Given the description of an element on the screen output the (x, y) to click on. 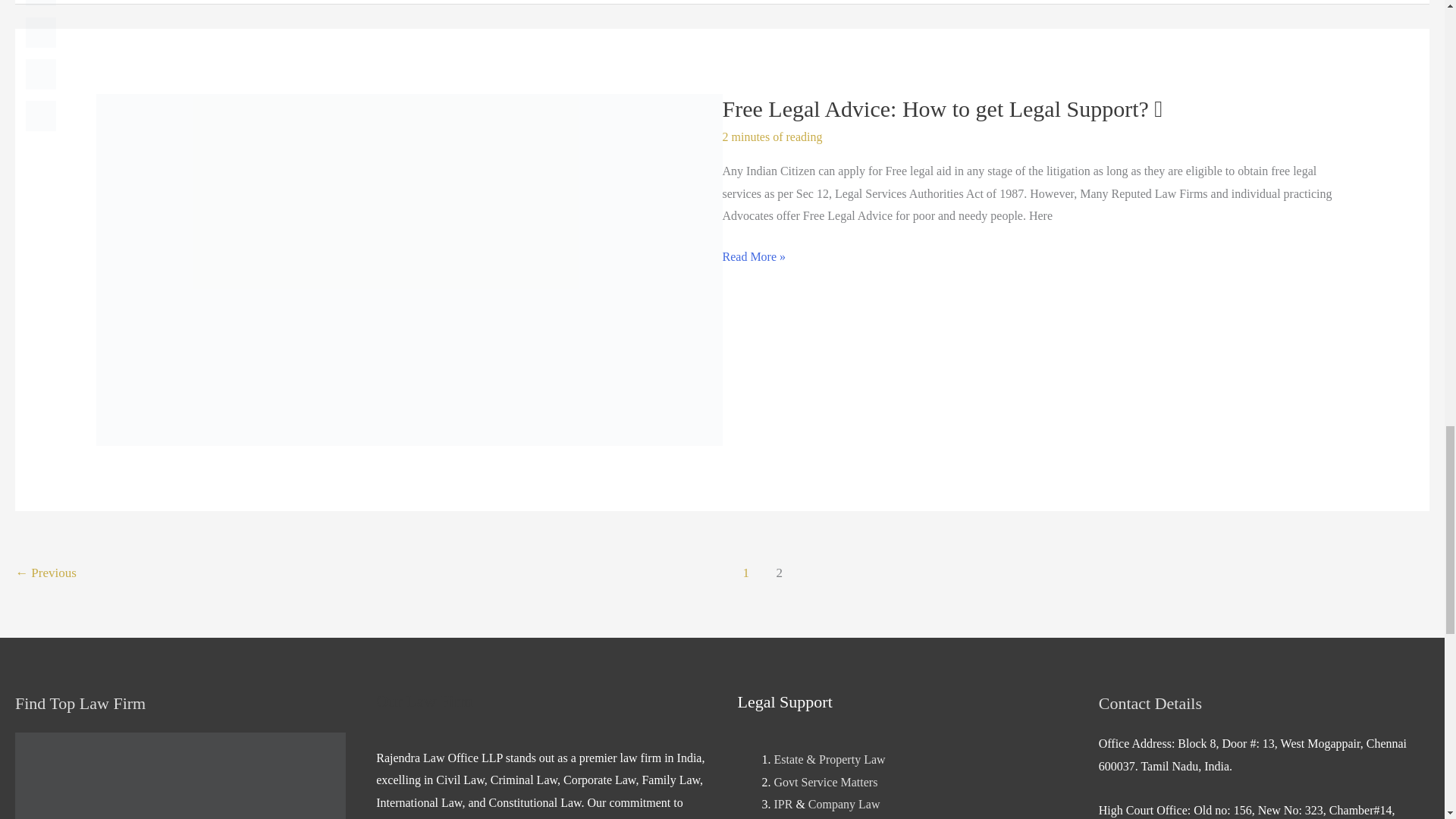
1 (745, 574)
LinkedIn (41, 114)
IPR (782, 803)
Facebook (41, 32)
Rajendra Law Office (180, 775)
Follow by Email (41, 2)
Company Law (844, 803)
Twitter (41, 73)
Govt Service Matters (825, 781)
